Given the description of an element on the screen output the (x, y) to click on. 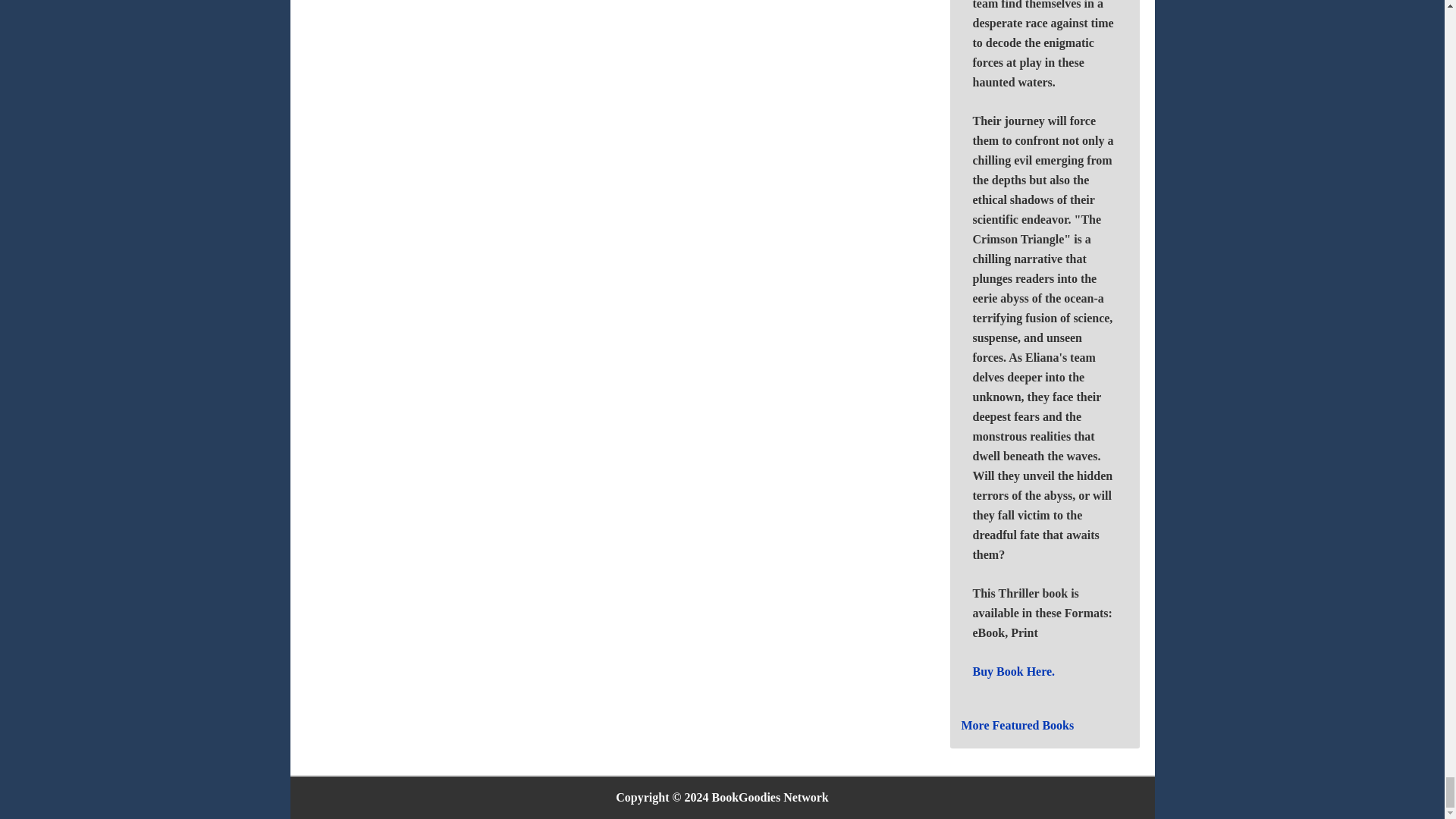
Features (1017, 725)
